Given the description of an element on the screen output the (x, y) to click on. 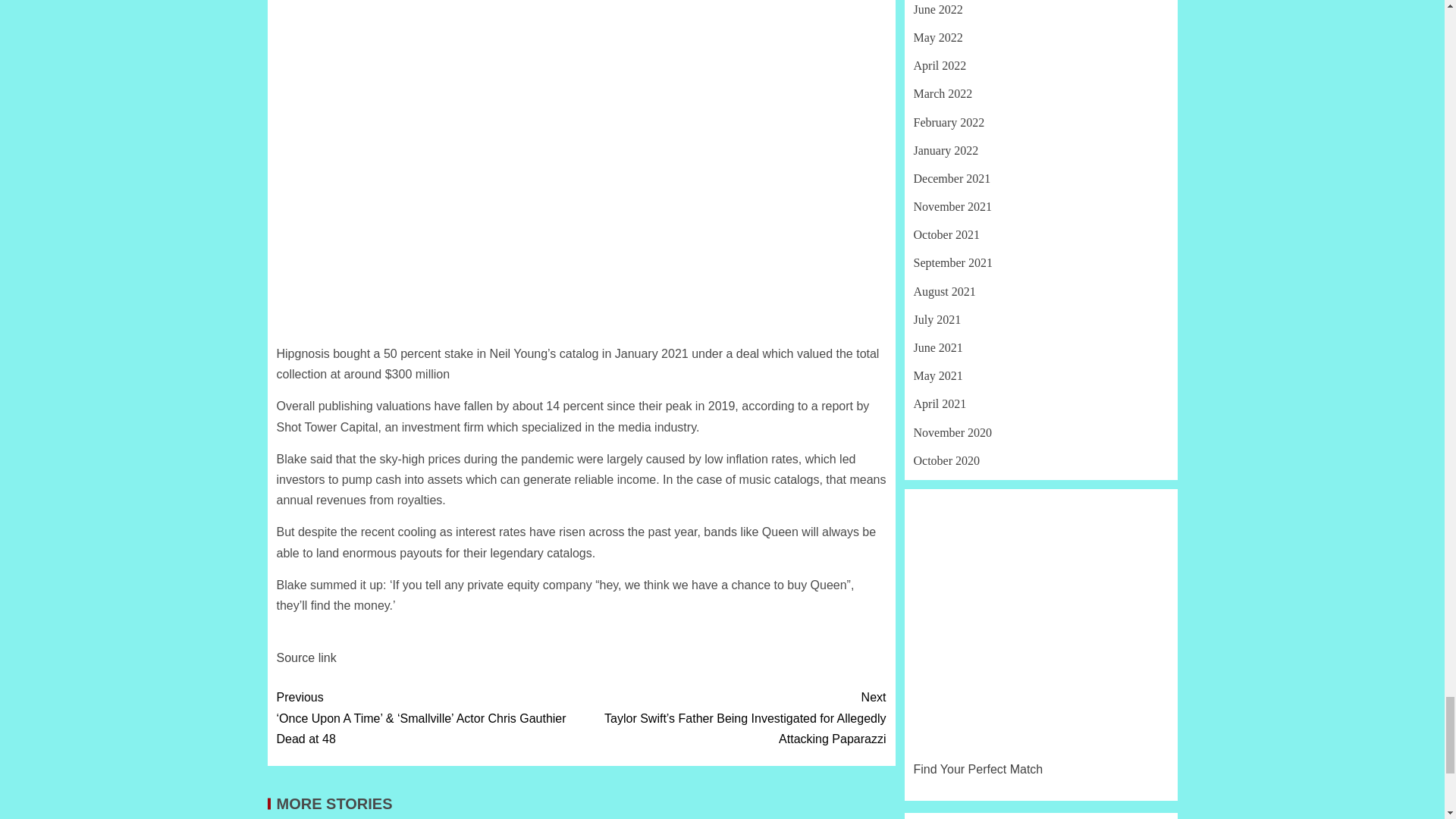
Source link (306, 657)
